Given the description of an element on the screen output the (x, y) to click on. 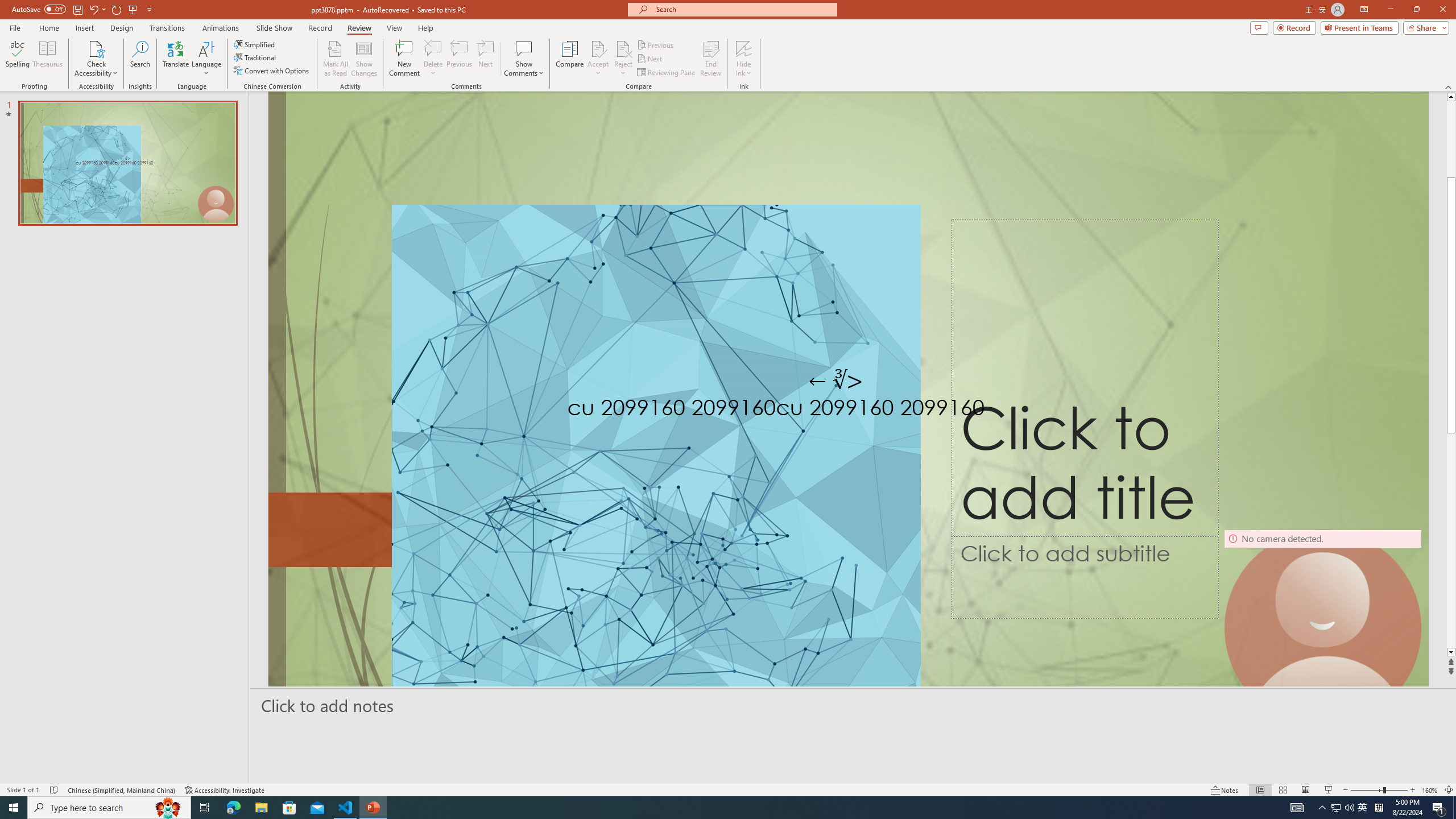
Previous (655, 44)
TextBox 7 (836, 380)
Quick Access Toolbar (82, 9)
Search (140, 58)
Reading View (1305, 790)
Camera 9, No camera detected. (1322, 628)
Share (1423, 27)
Normal (1260, 790)
Zoom to Fit  (1449, 790)
AutoSave (38, 9)
File Tab (15, 27)
Animations (220, 28)
New Comment (403, 58)
Accept Change (598, 48)
Check Accessibility (95, 48)
